Given the description of an element on the screen output the (x, y) to click on. 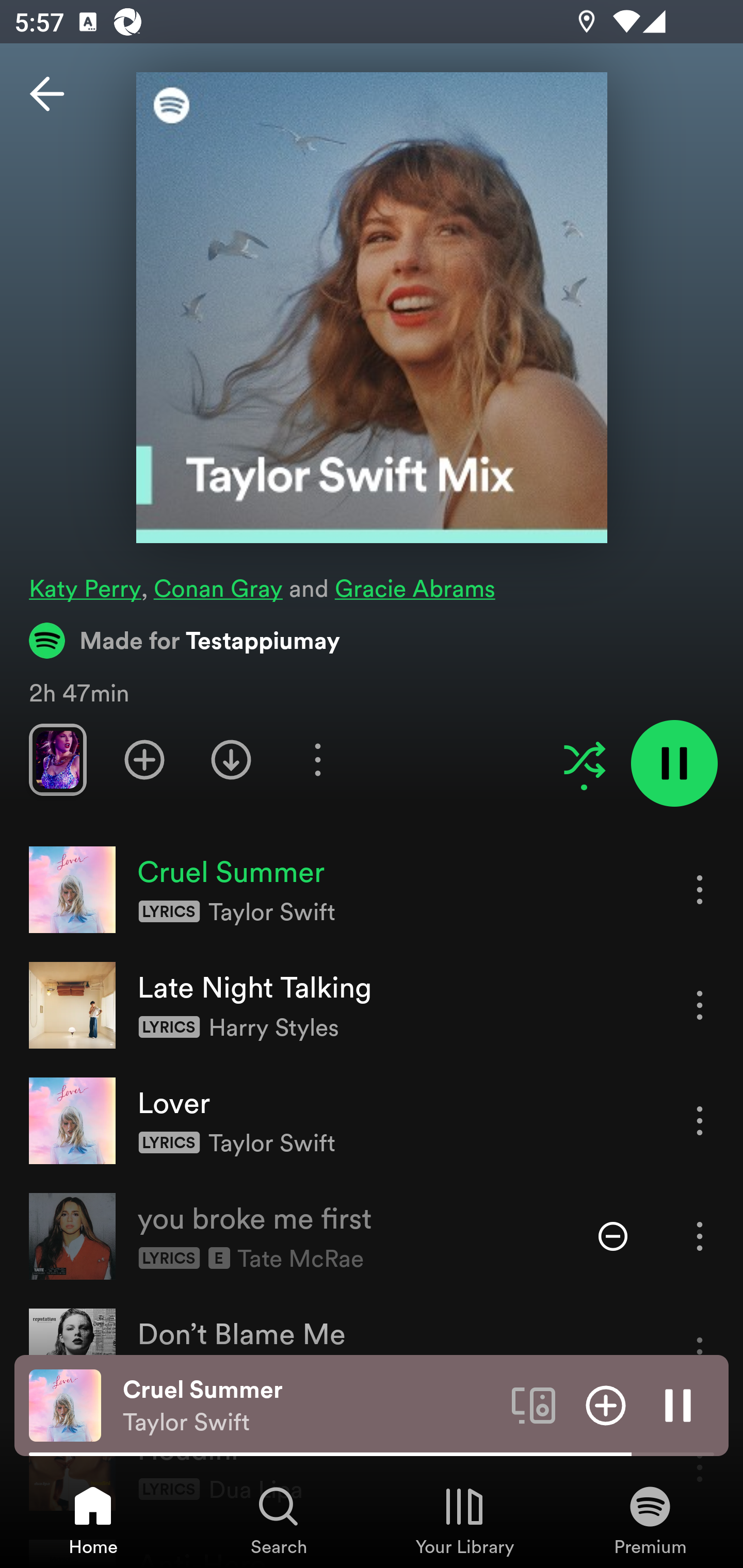
Back (46, 93)
Made for Testappiumay (184, 640)
Add playlist to Your Library (144, 759)
Download (230, 759)
More options for playlist Taylor Swift Mix (317, 759)
Disable shuffle for this playlist (583, 759)
Pause playlist (674, 763)
More options for song Cruel Summer (699, 889)
More options for song Late Night Talking (699, 1004)
More options for song Lover (699, 1120)
Allow to play this song (612, 1236)
More options for song you broke me first (699, 1236)
Cruel Summer Taylor Swift (309, 1405)
The cover art of the currently playing track (64, 1404)
Connect to a device. Opens the devices menu (533, 1404)
Add item (605, 1404)
Pause (677, 1404)
Home, Tab 1 of 4 Home Home (92, 1519)
Search, Tab 2 of 4 Search Search (278, 1519)
Your Library, Tab 3 of 4 Your Library Your Library (464, 1519)
Premium, Tab 4 of 4 Premium Premium (650, 1519)
